Given the description of an element on the screen output the (x, y) to click on. 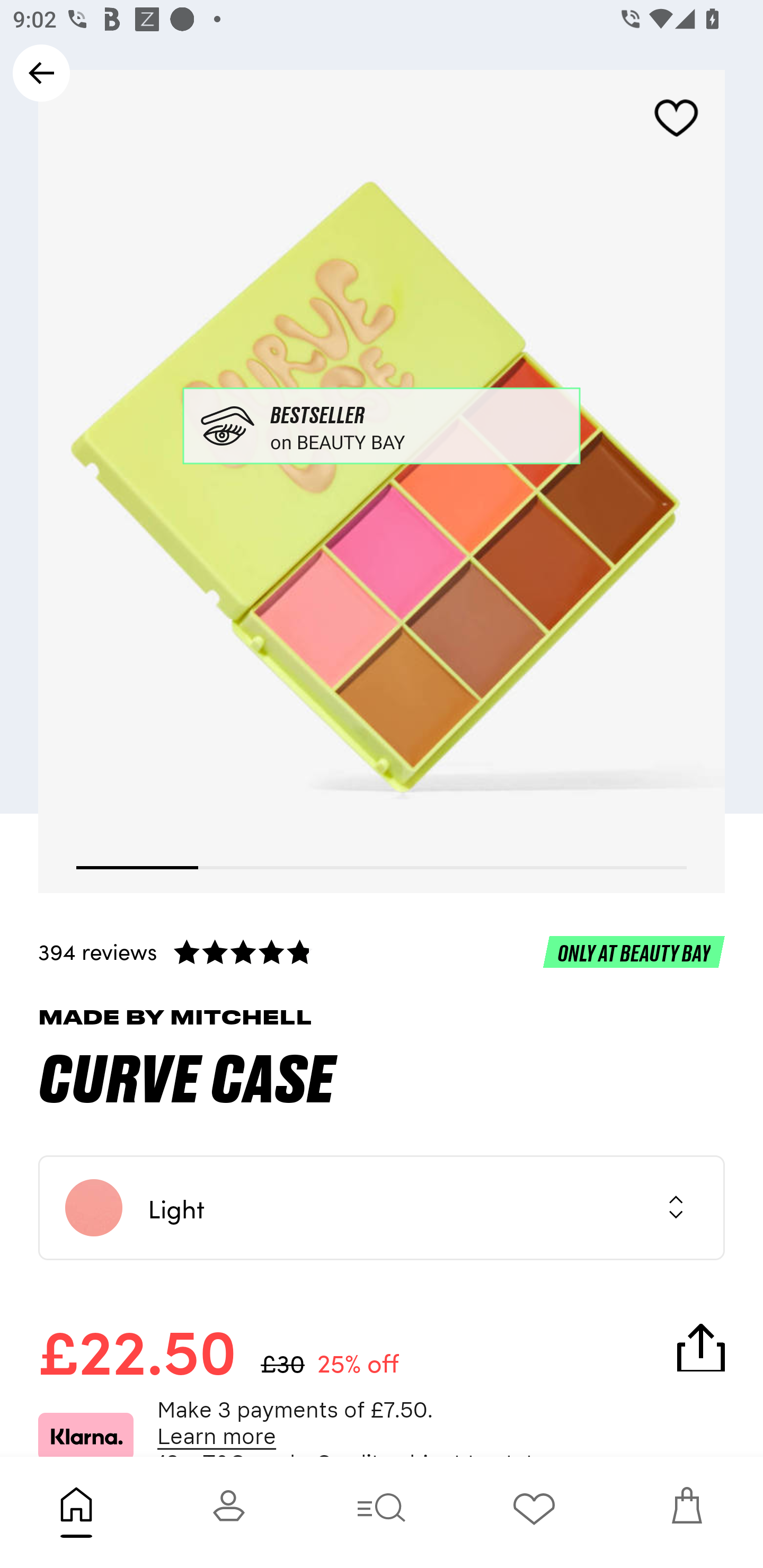
394 reviews (381, 950)
Light  (381, 1207)
